Given the description of an element on the screen output the (x, y) to click on. 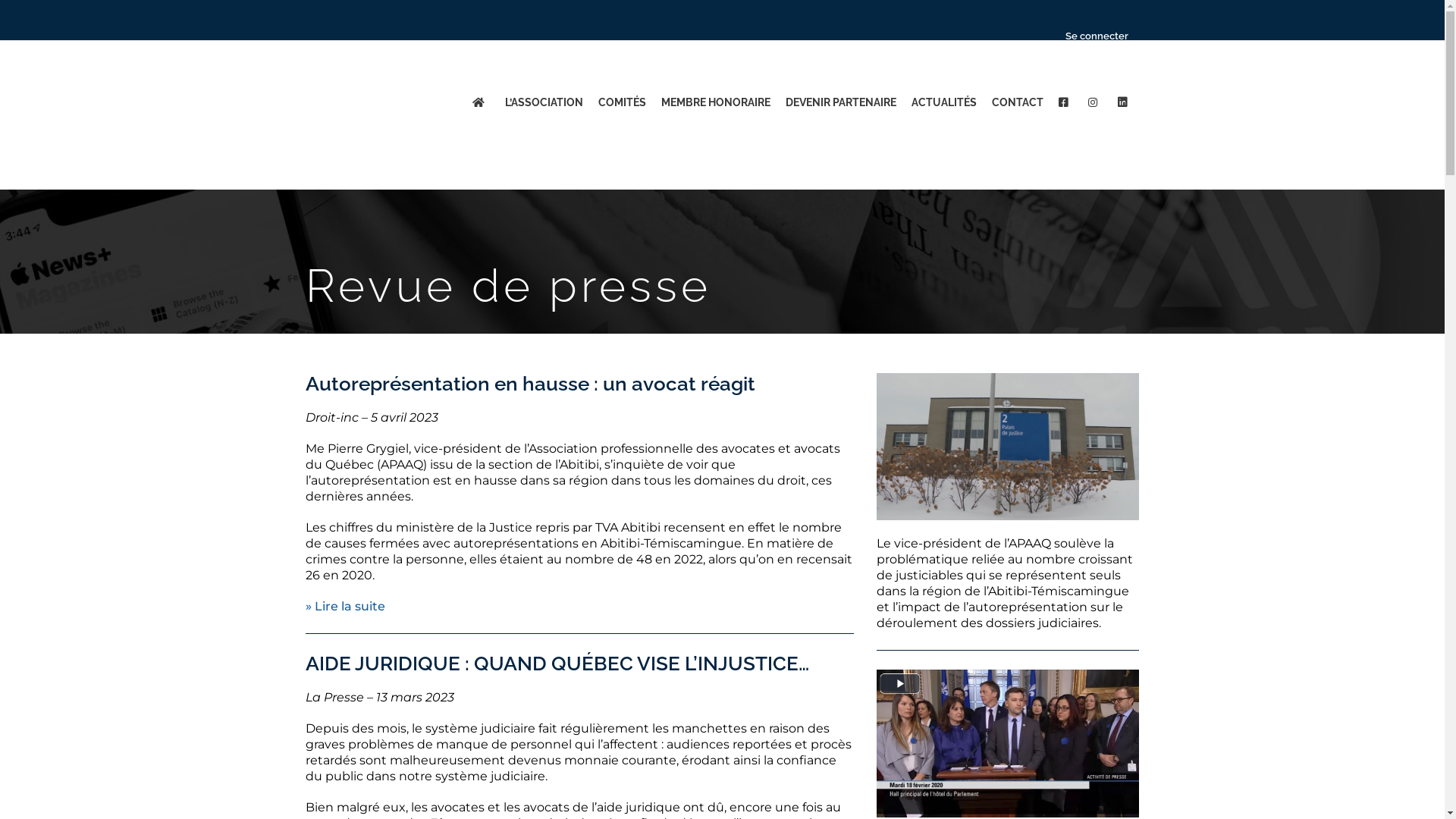
MEMBRE HONORAIRE Element type: text (715, 102)
CONTACT Element type: text (1017, 102)
DEVENIR PARTENAIRE Element type: text (840, 102)
Se connecter Element type: text (1091, 36)
